Given the description of an element on the screen output the (x, y) to click on. 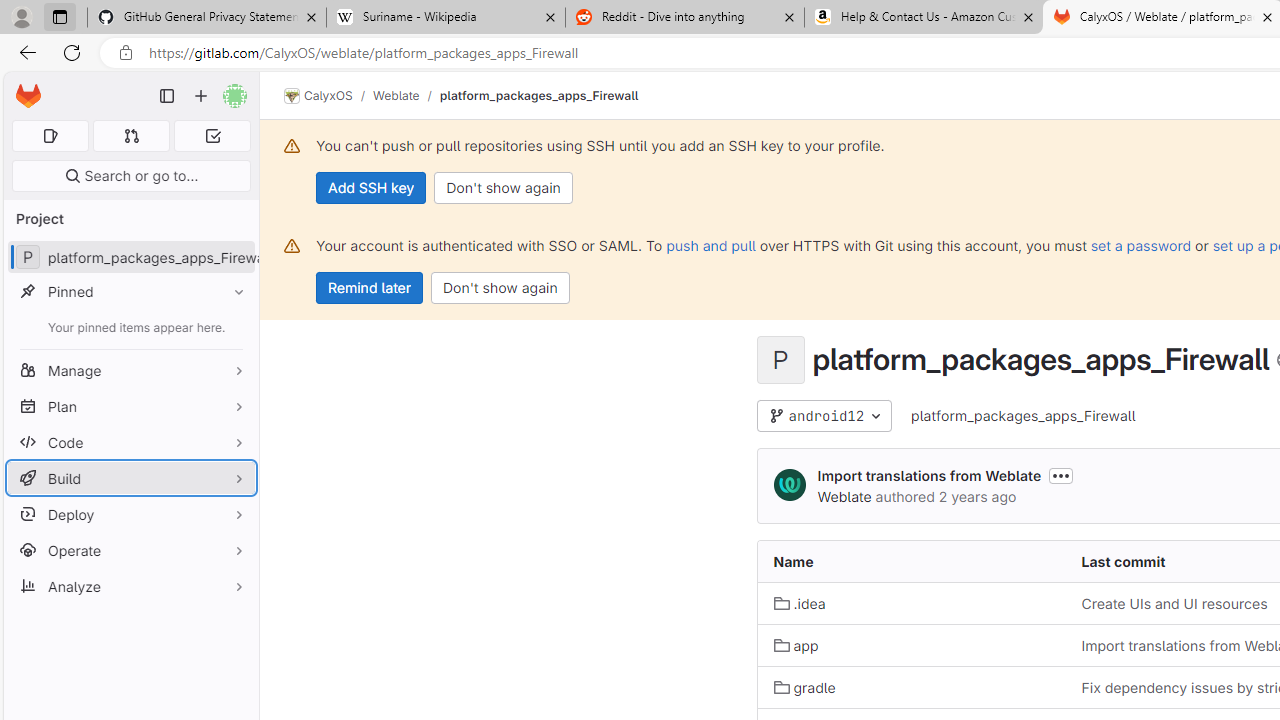
gradle (804, 686)
Code (130, 442)
app (911, 645)
Pplatform_packages_apps_Firewall (130, 257)
Create new... (201, 96)
set a password (1140, 245)
CalyxOS (318, 96)
push and pull (710, 245)
Suriname - Wikipedia (445, 17)
Analyze (130, 586)
Hosted Weblate's avatar (789, 484)
Class: s16 gl-alert-icon gl-alert-icon-no-title (291, 246)
P platform_packages_apps_Firewall (130, 257)
